Given the description of an element on the screen output the (x, y) to click on. 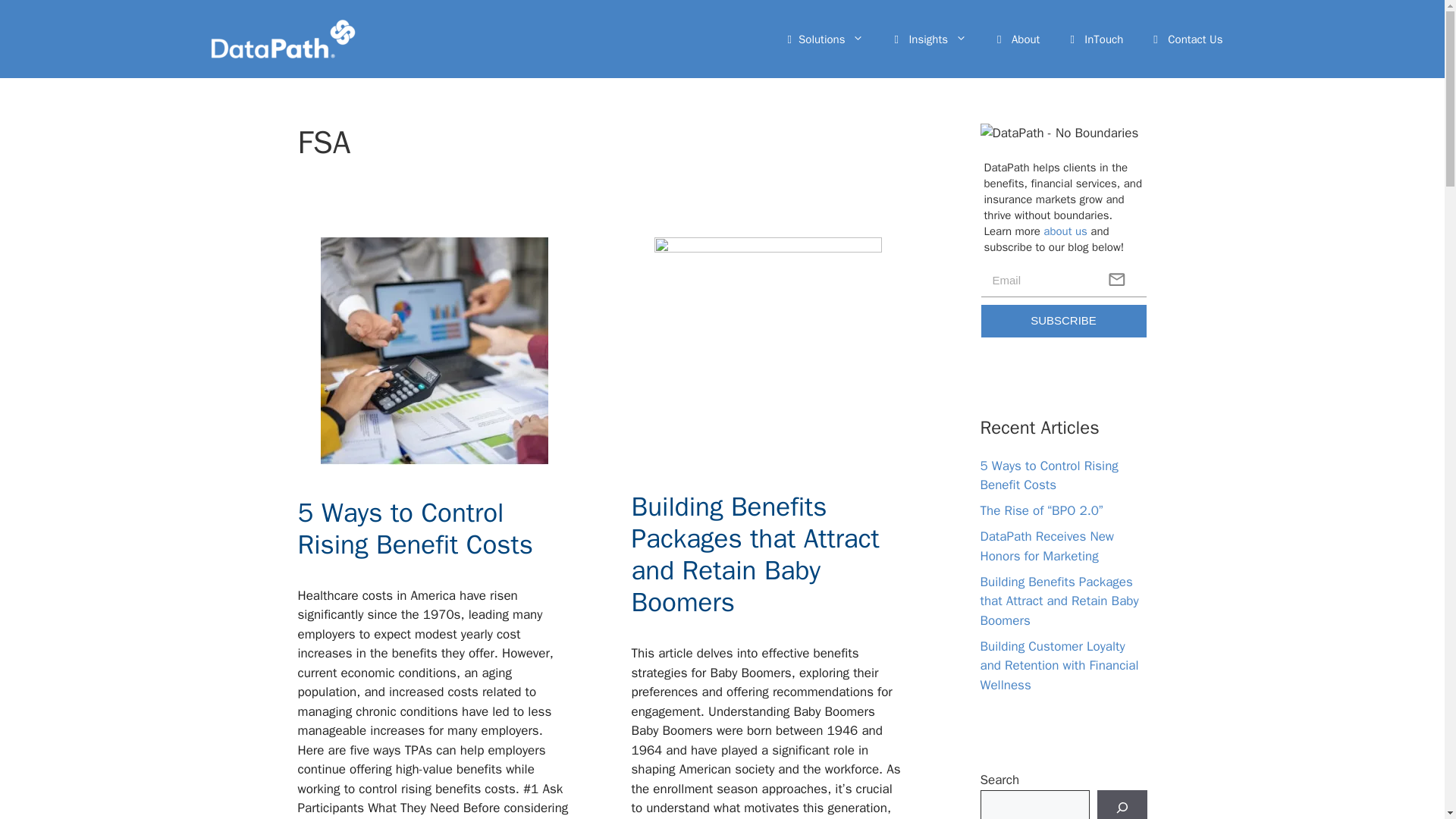
  Solutions (826, 39)
   About (1017, 39)
5 Ways to Control Rising Benefit Costs (414, 528)
DataPath - No Boundaries (1063, 137)
   Contact Us (1187, 39)
   Insights (930, 39)
   InTouch (1096, 39)
